Given the description of an element on the screen output the (x, y) to click on. 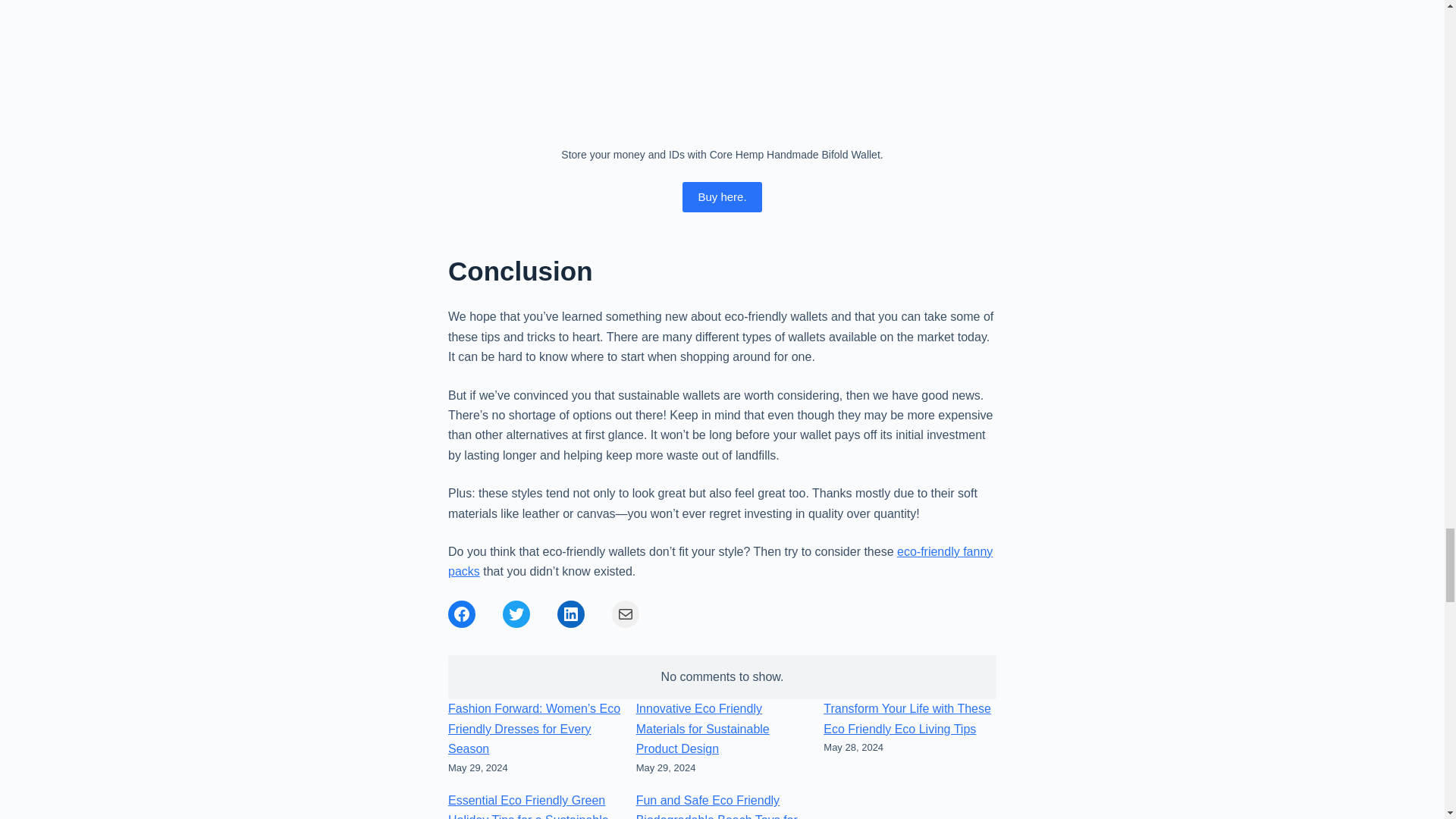
Twitter (515, 614)
Mail (625, 614)
Transform Your Life with These Eco Friendly Eco Living Tips (907, 717)
Fun and Safe Eco Friendly Biodegradable Beach Toys for Kids (716, 806)
LinkedIn (571, 614)
Facebook (462, 614)
Buy here. (721, 196)
eco-friendly fanny packs (720, 561)
